Given the description of an element on the screen output the (x, y) to click on. 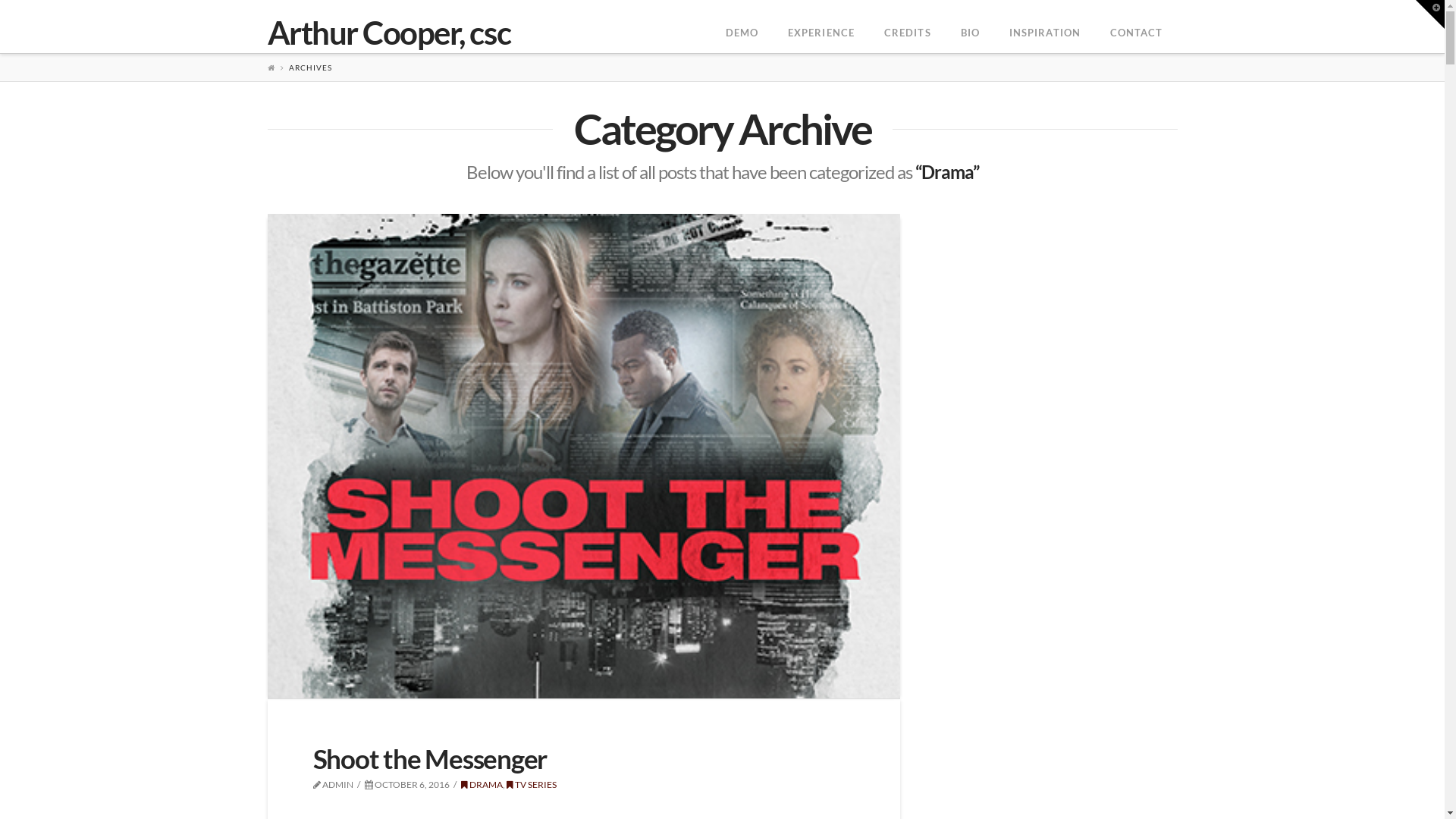
DRAMA Element type: text (481, 784)
CONTACT Element type: text (1136, 26)
EXPERIENCE Element type: text (820, 26)
INSPIRATION Element type: text (1044, 26)
TV SERIES Element type: text (531, 784)
DEMO Element type: text (741, 26)
Shoot the Messenger Element type: text (429, 758)
CREDITS Element type: text (907, 26)
BIO Element type: text (969, 26)
Toggle the Widgetbar Element type: text (1429, 14)
Permalink to: "Shoot the Messenger" Element type: hover (582, 455)
Arthur Cooper, csc Element type: text (388, 32)
